Given the description of an element on the screen output the (x, y) to click on. 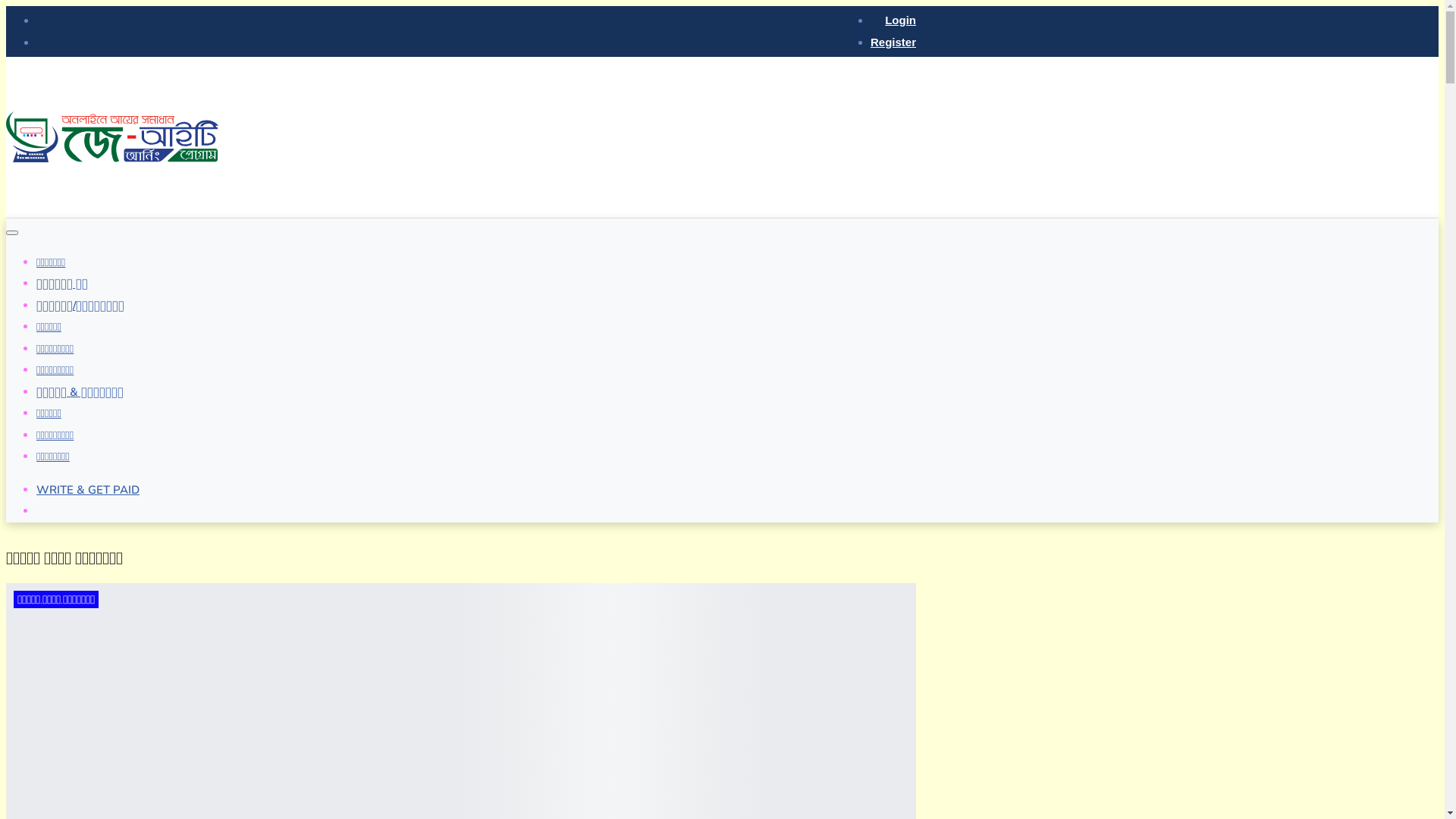
Register Element type: text (893, 40)
Login Element type: text (900, 19)
Advertisement Element type: hover (640, 137)
WRITE & GET PAID Element type: text (87, 489)
